Given the description of an element on the screen output the (x, y) to click on. 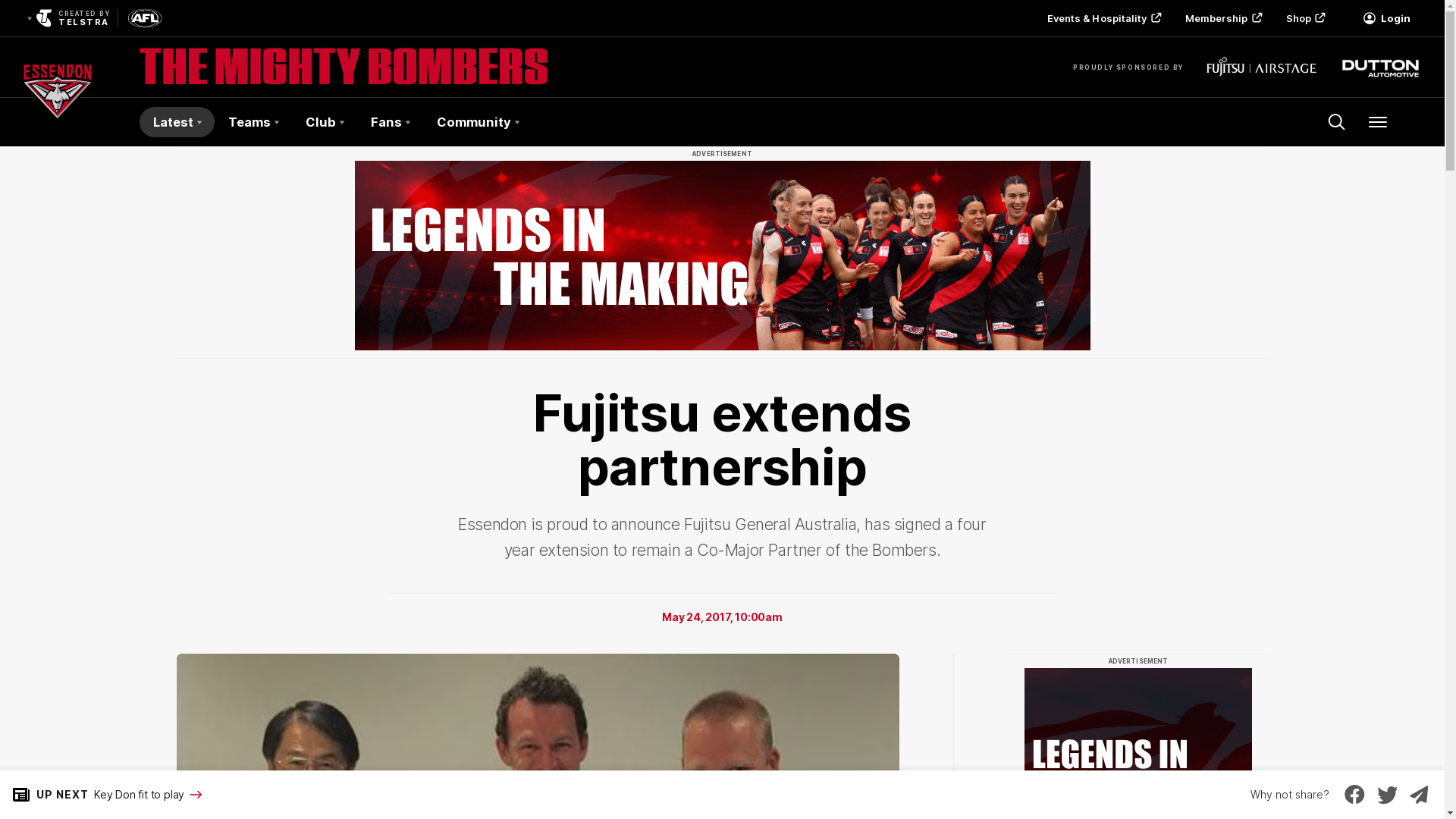
Fans Element type: text (390, 121)
Events & Hospitality Element type: text (1102, 18)
Shop Element type: text (1303, 18)
Club Logo Element type: text (57, 121)
Community Element type: text (477, 121)
Latest Element type: text (176, 121)
Membership Element type: text (1221, 18)
Menu Element type: text (1377, 121)
UP NEXT
Key Don fit to play Element type: text (102, 794)
CREATED BY
TELSTRA Element type: text (66, 18)
Club Element type: text (324, 121)
Login Element type: text (1386, 18)
3rd party ad content Element type: hover (722, 255)
Teams Element type: text (252, 121)
